Given the description of an element on the screen output the (x, y) to click on. 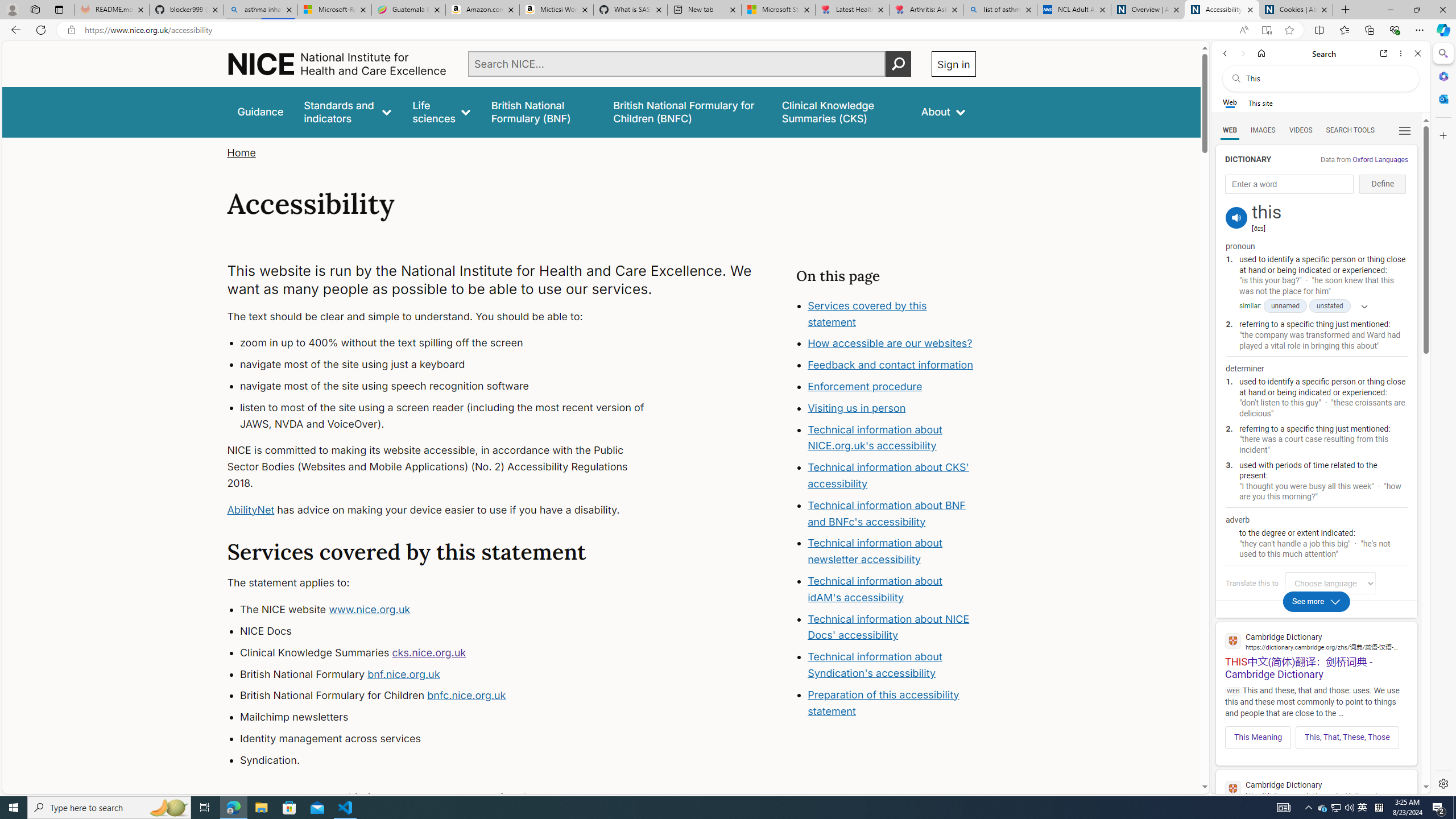
Clinical Knowledge Summaries cks.nice.org.uk (452, 652)
false (841, 111)
Enter Immersive Reader (F9) (1266, 29)
Technical information about newsletter accessibility (875, 551)
Search Filter, WEB (1230, 129)
Guidance (260, 111)
Search Filter, VIDEOS (1300, 129)
Technical information about BNF and BNFc's accessibility (886, 512)
About (942, 111)
unnamed (1285, 305)
bnfc.nice.org.uk (466, 695)
